Given the description of an element on the screen output the (x, y) to click on. 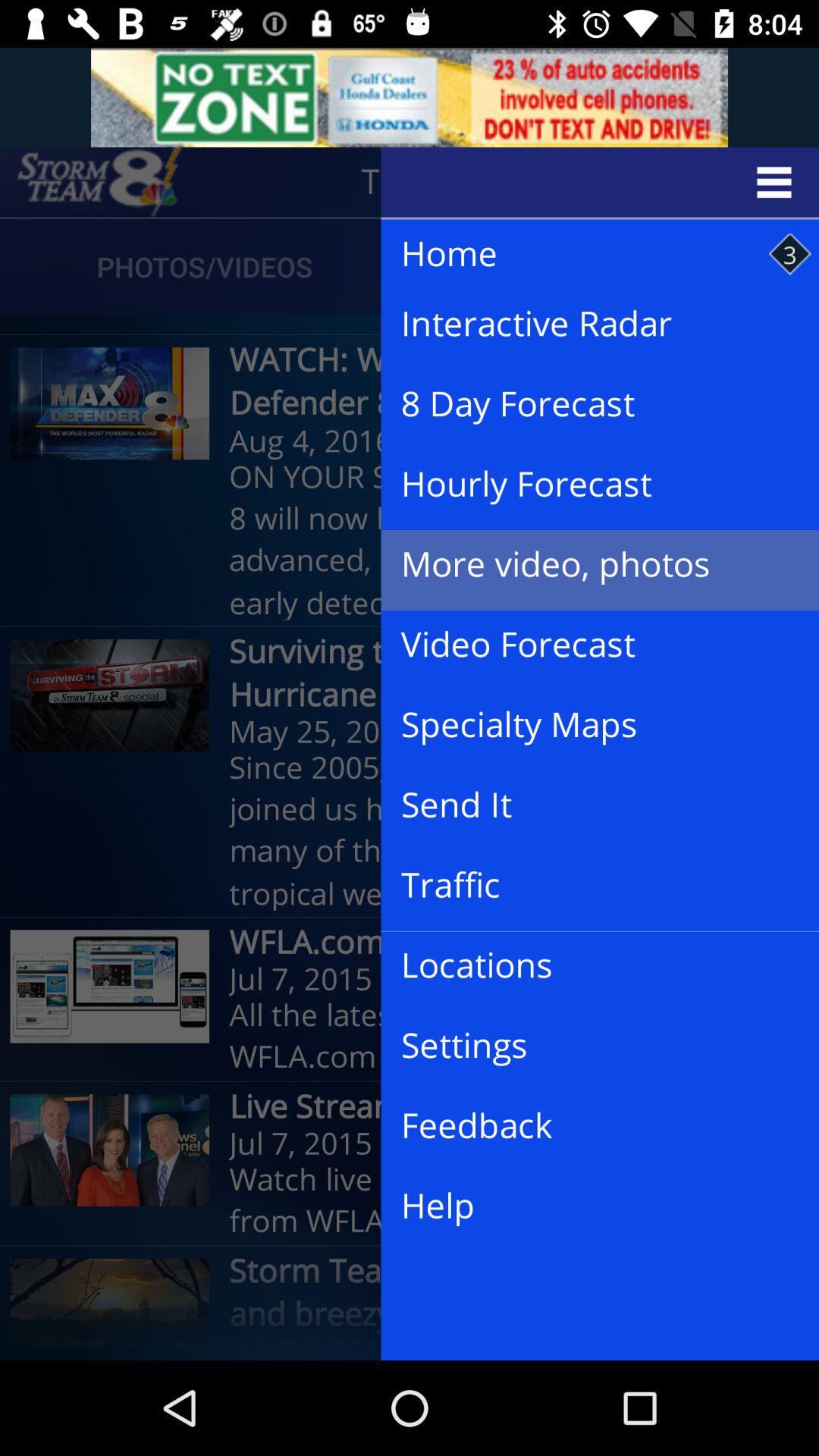
press the item next to the tampa, fl (99, 182)
